Given the description of an element on the screen output the (x, y) to click on. 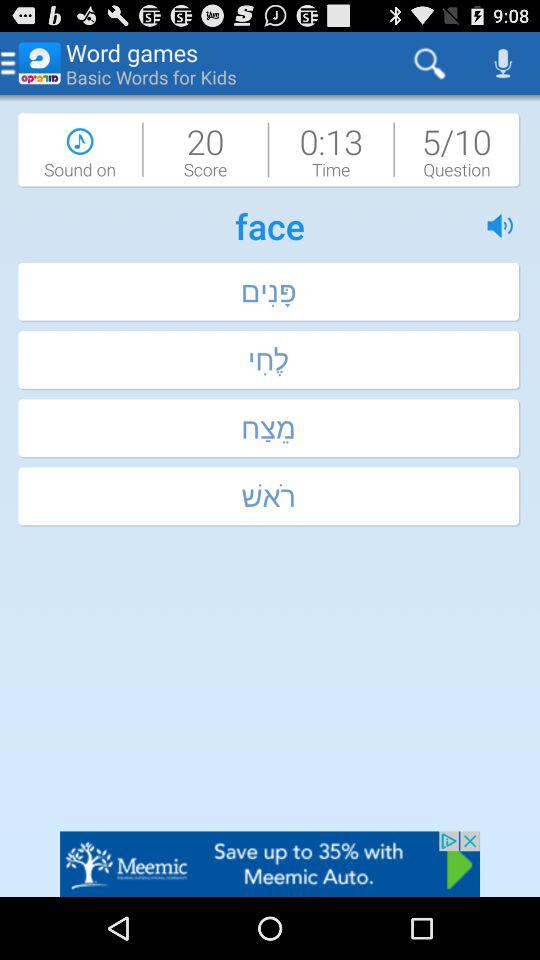
visit meemic (270, 864)
